Given the description of an element on the screen output the (x, y) to click on. 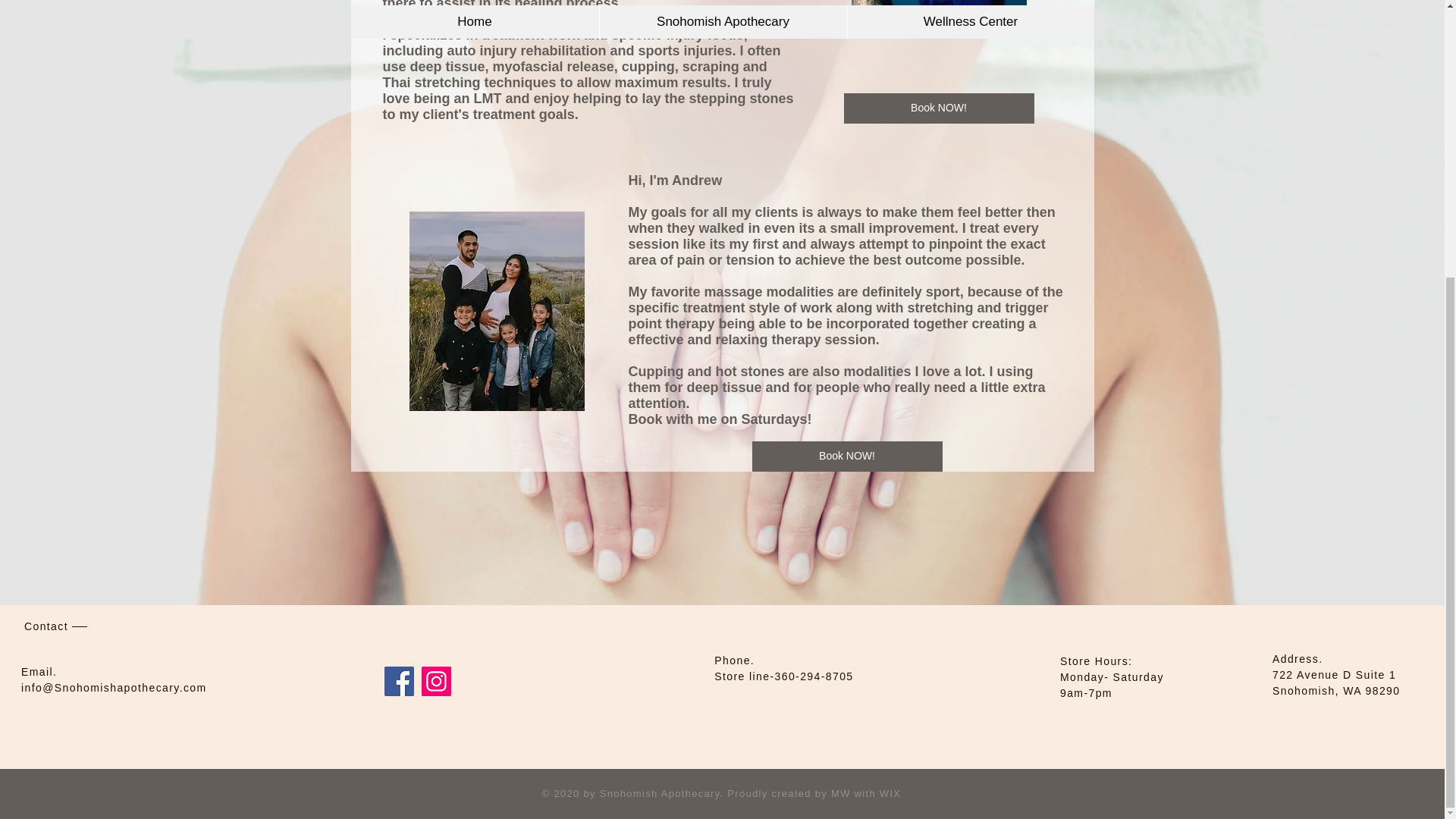
Book NOW! (938, 108)
Book NOW! (847, 456)
